Given the description of an element on the screen output the (x, y) to click on. 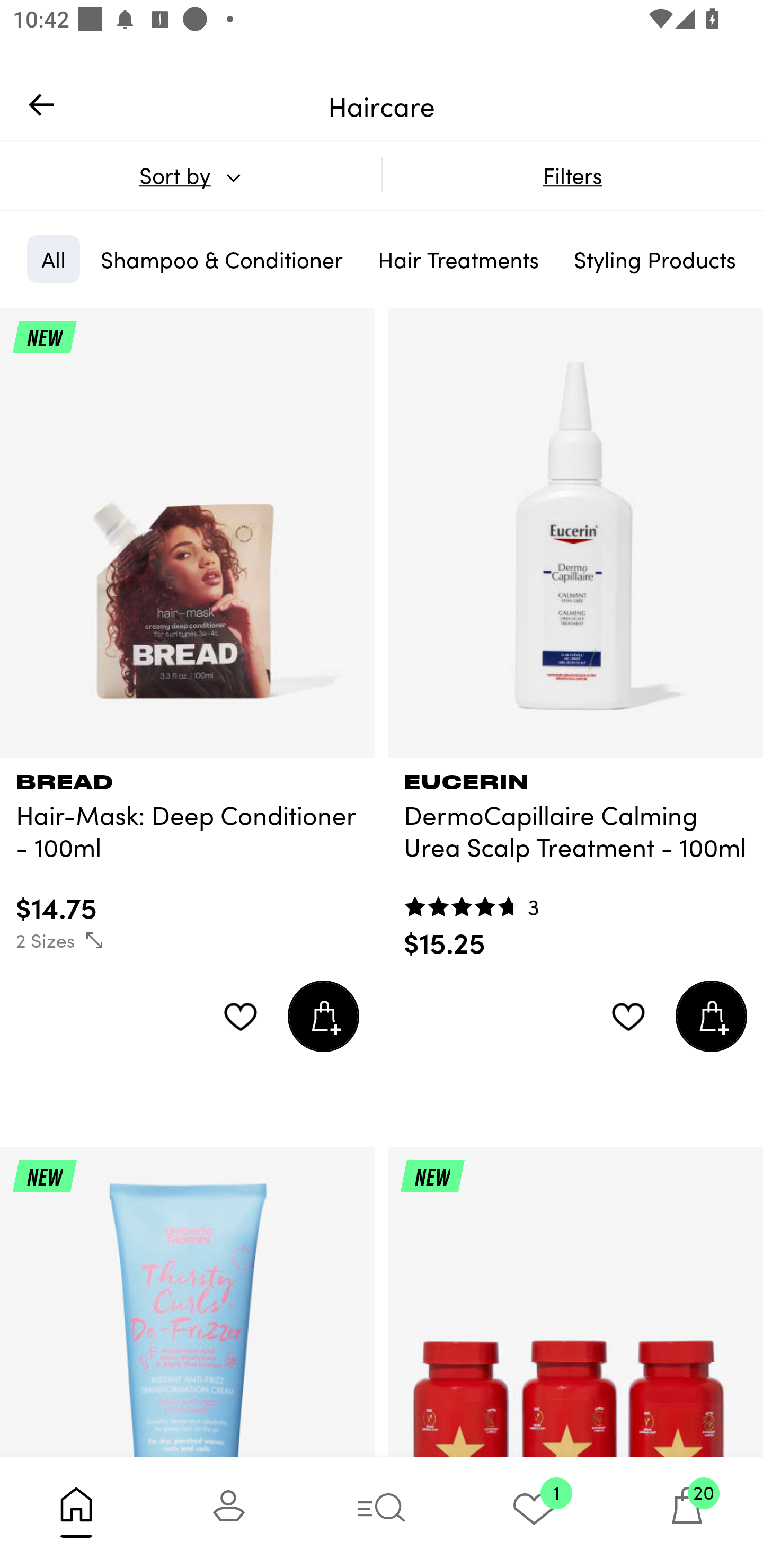
Sort by (190, 174)
Filters (572, 174)
All (53, 258)
Shampoo & Conditioner (221, 258)
Hair Treatments (458, 258)
Styling Products (654, 258)
1 (533, 1512)
20 (686, 1512)
